Given the description of an element on the screen output the (x, y) to click on. 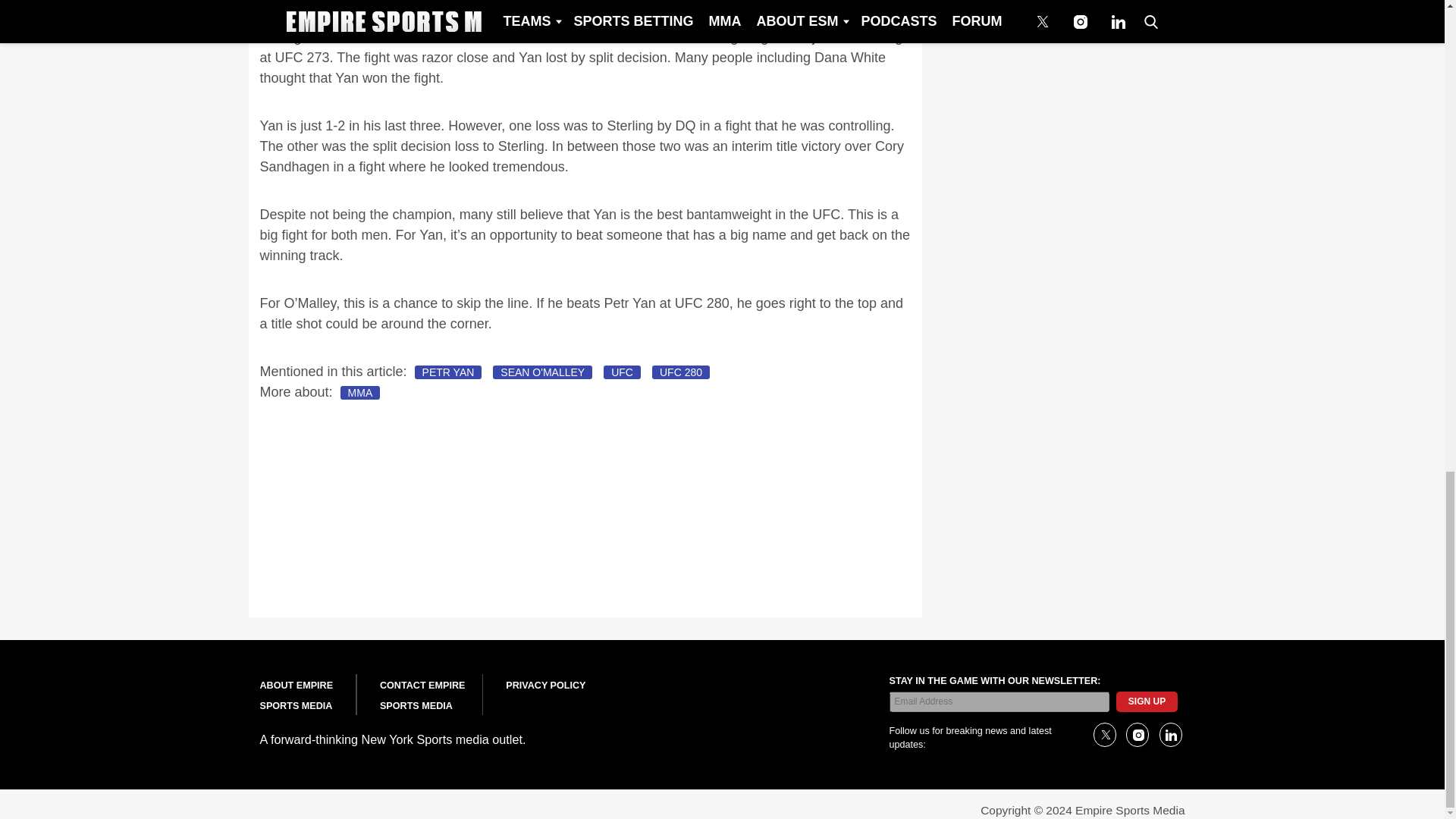
Follow us on Twitter (1104, 734)
Connect with us on LinkedIn (1169, 734)
Follow us on Instagram (1136, 734)
PETR YAN (447, 372)
SEAN O'MALLEY (542, 372)
